Given the description of an element on the screen output the (x, y) to click on. 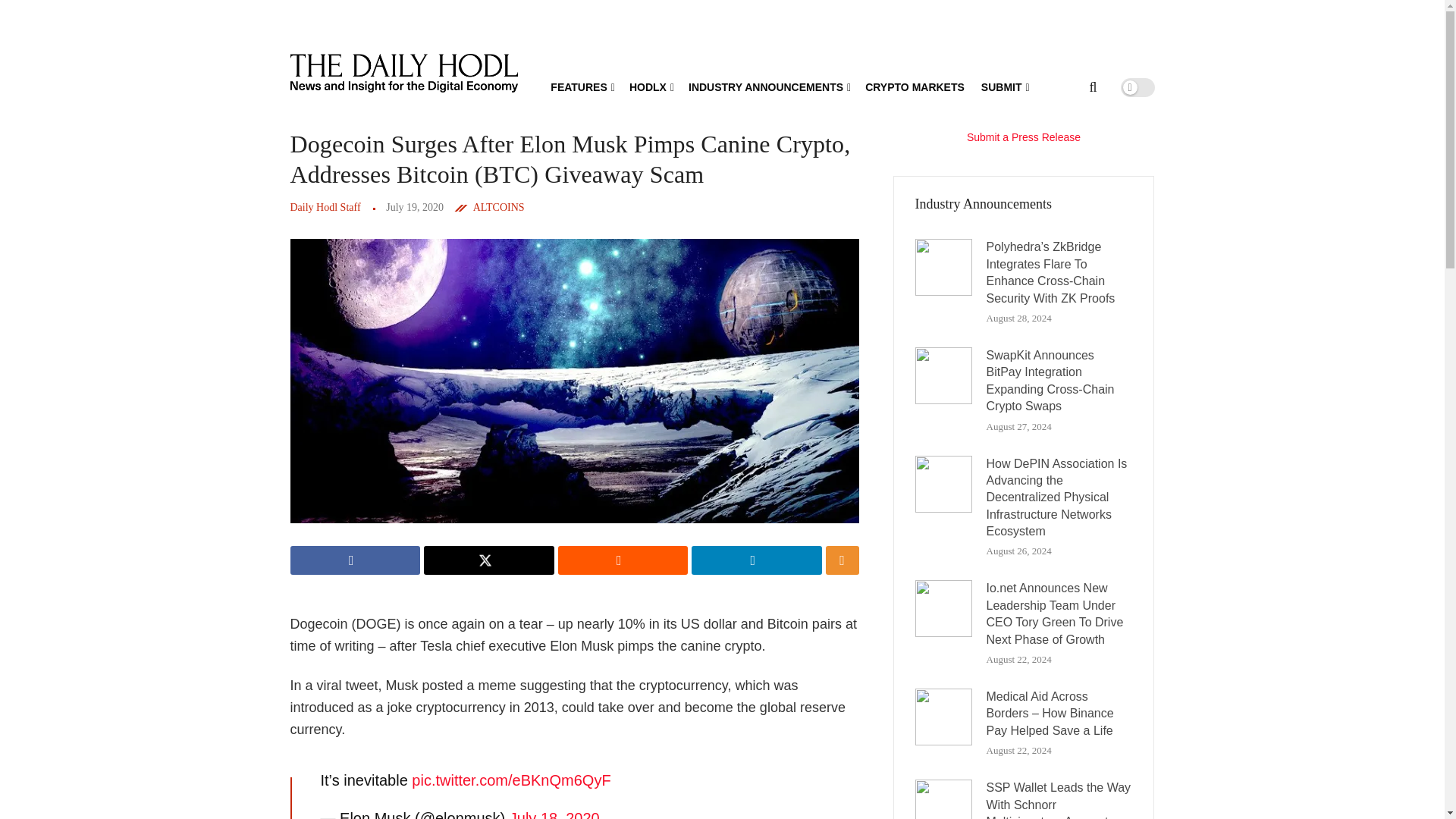
SUBMIT (1004, 86)
HODLX (649, 86)
FEATURES (581, 86)
CRYPTO MARKETS (913, 86)
INDUSTRY ANNOUNCEMENTS (768, 86)
